Given the description of an element on the screen output the (x, y) to click on. 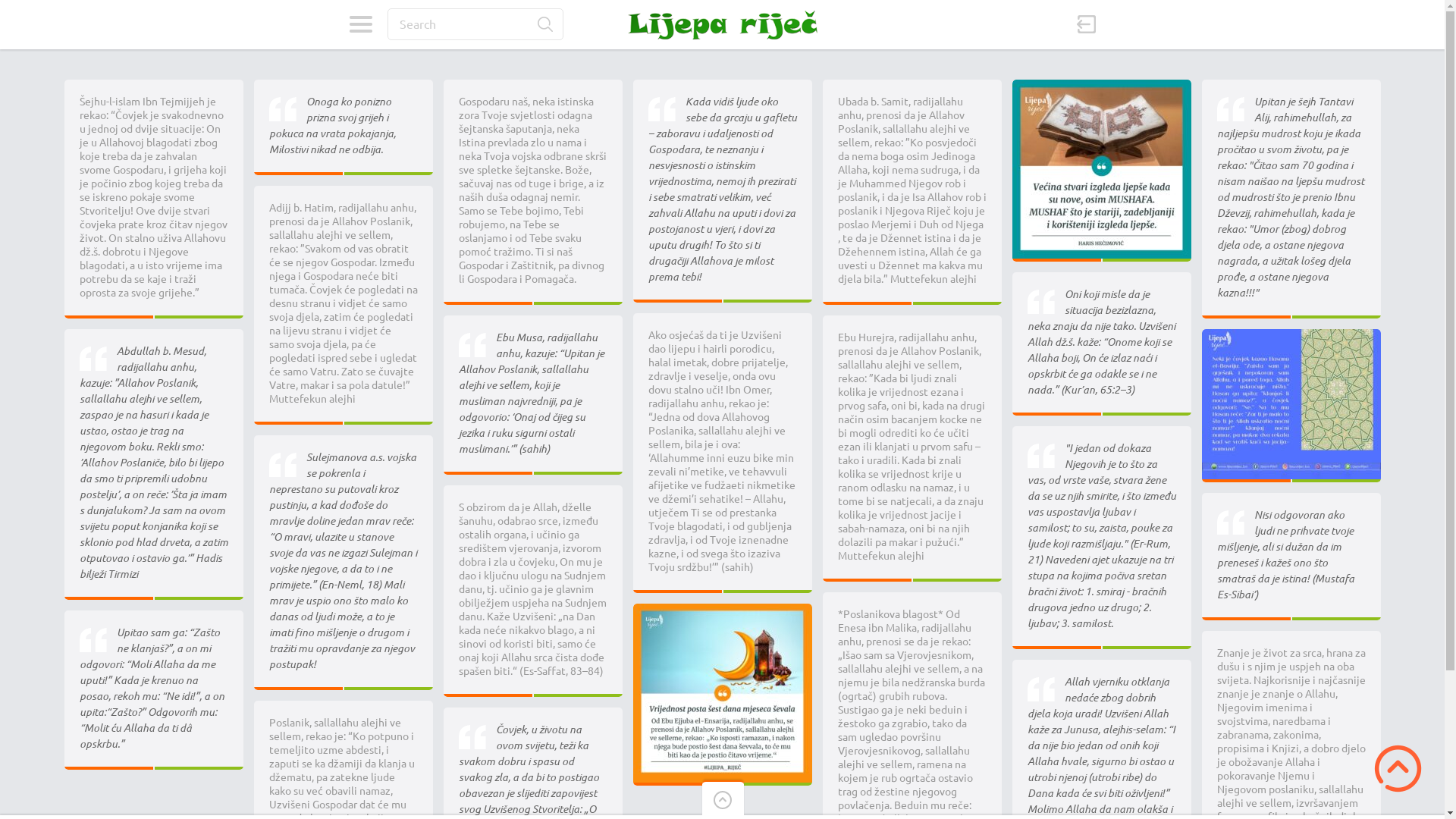
Search Element type: text (544, 23)
Categories Element type: text (360, 23)
Sign in Element type: text (1086, 24)
Slika 2259 Element type: hover (1100, 86)
Slika 1774 Element type: hover (721, 610)
Slika 691 Element type: hover (1290, 336)
Login Element type: text (1052, 164)
Scroll to Top Element type: text (1397, 768)
